Given the description of an element on the screen output the (x, y) to click on. 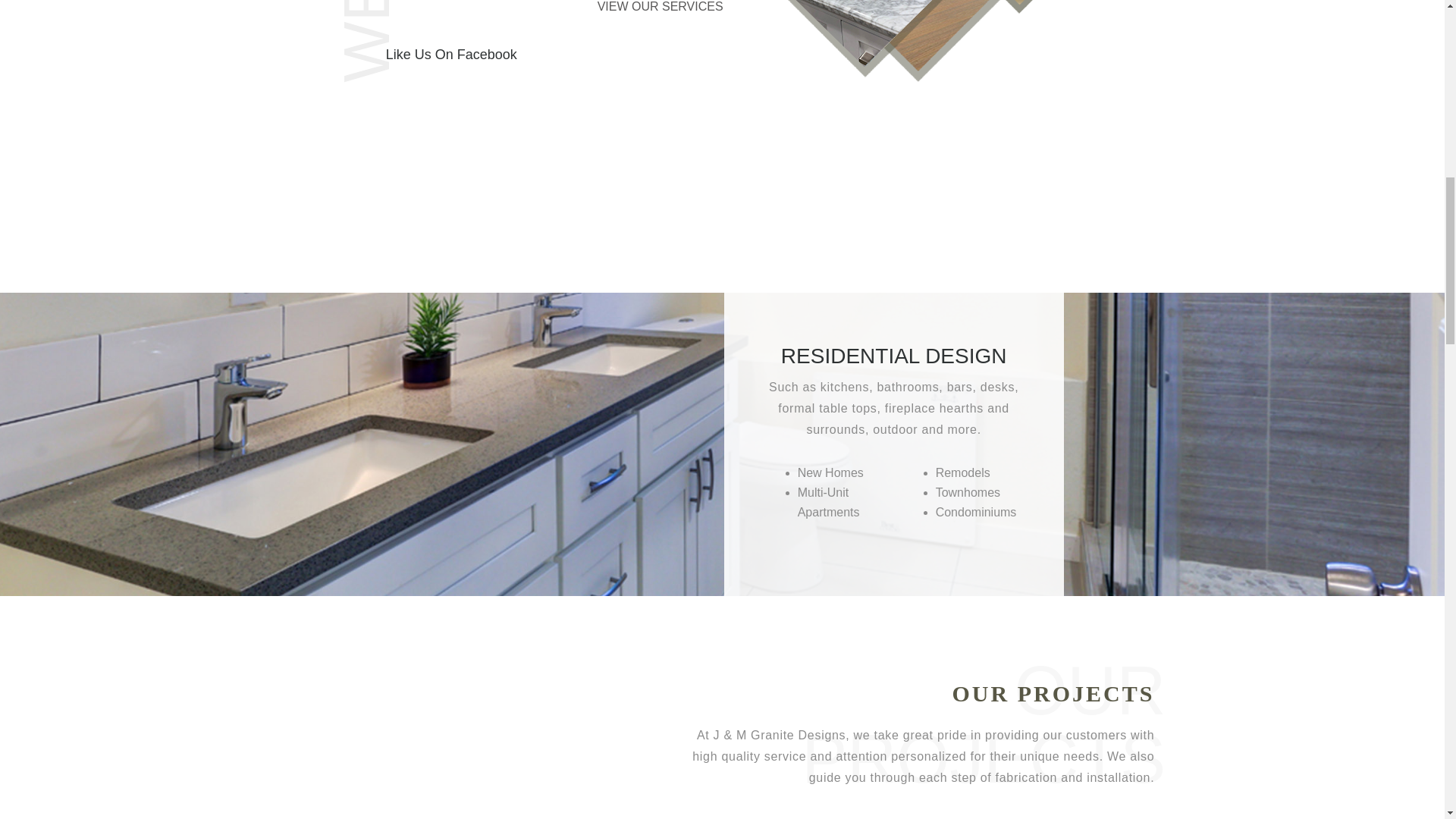
Services (660, 12)
VIEW OUR SERVICES (660, 12)
